Given the description of an element on the screen output the (x, y) to click on. 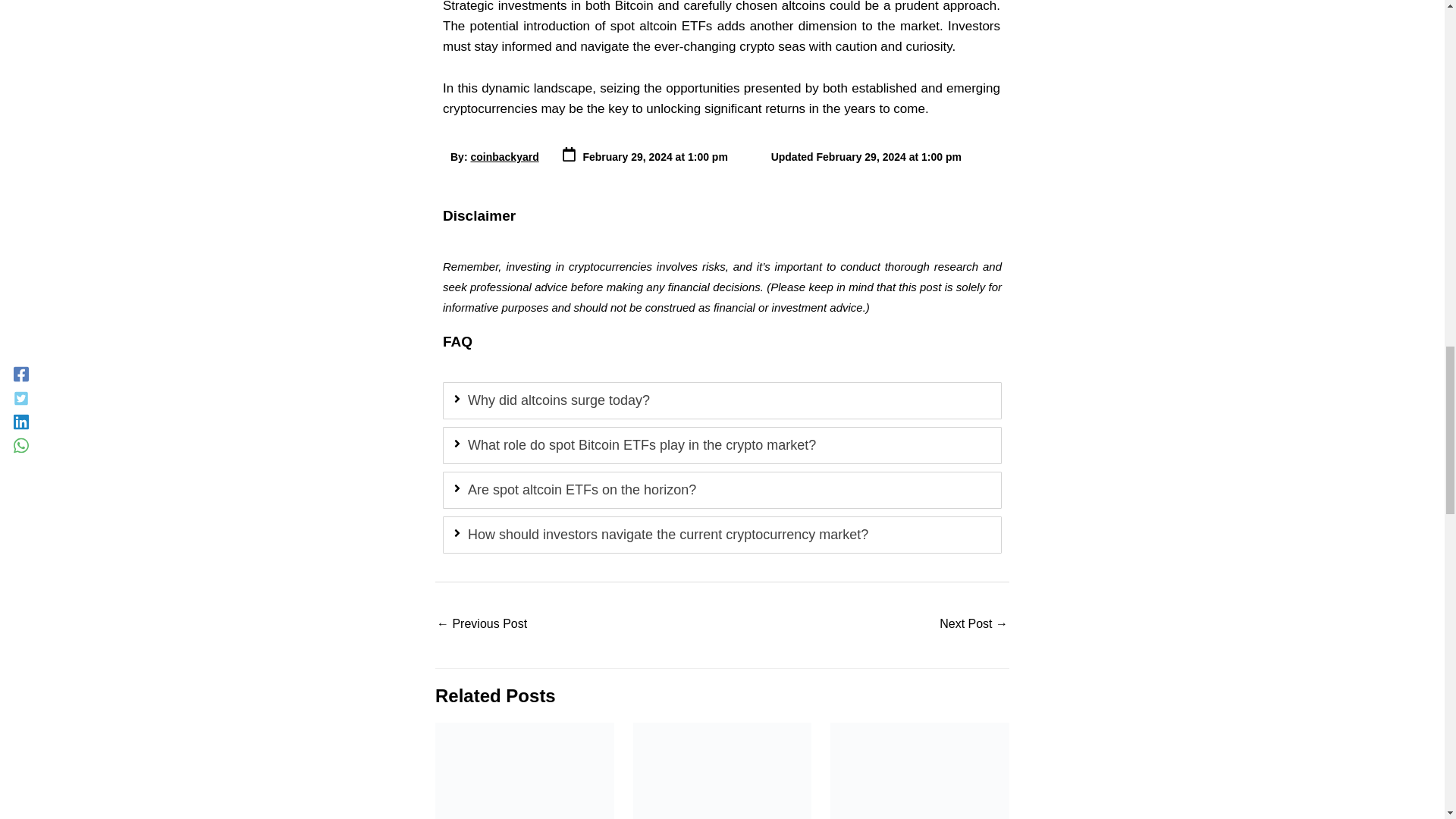
coinbackyard (504, 156)
